Given the description of an element on the screen output the (x, y) to click on. 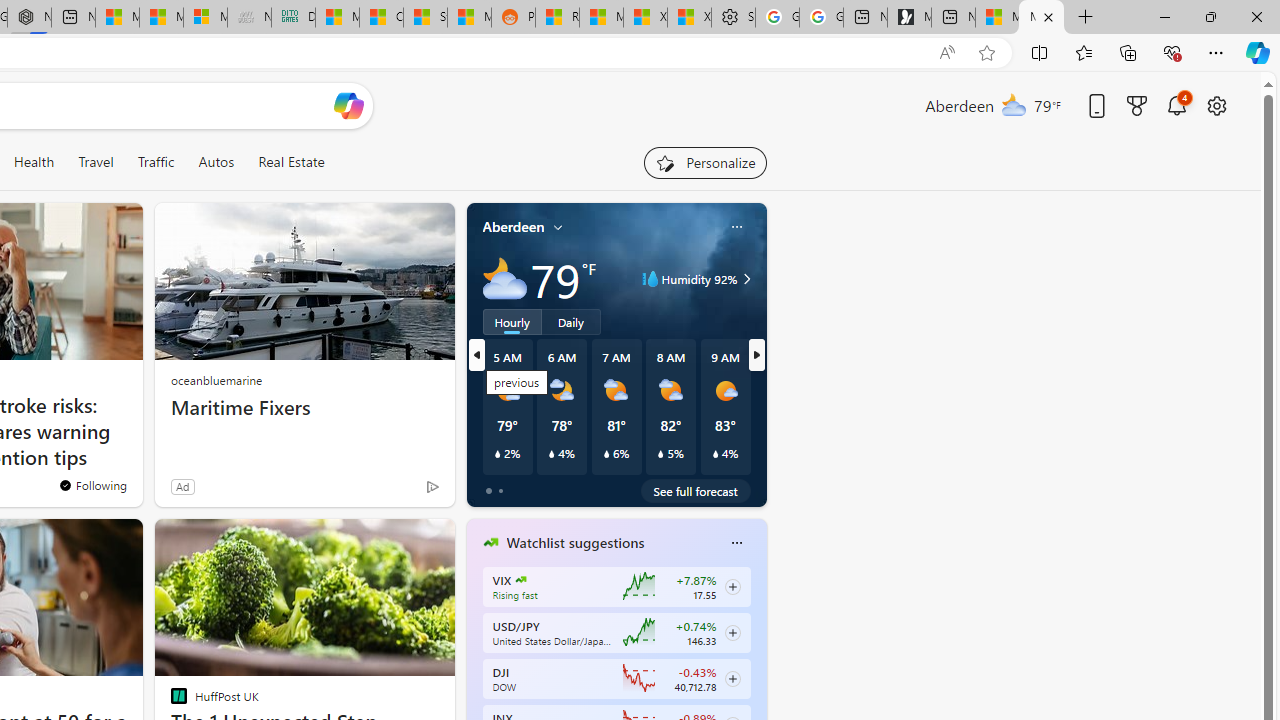
Mostly cloudy (504, 278)
Class: weather-current-precipitation-glyph (715, 453)
Traffic (155, 161)
Hourly (511, 321)
Watchlist suggestions (575, 543)
CBOE Market Volatility Index (520, 579)
oceanbluemarine (216, 380)
